Given the description of an element on the screen output the (x, y) to click on. 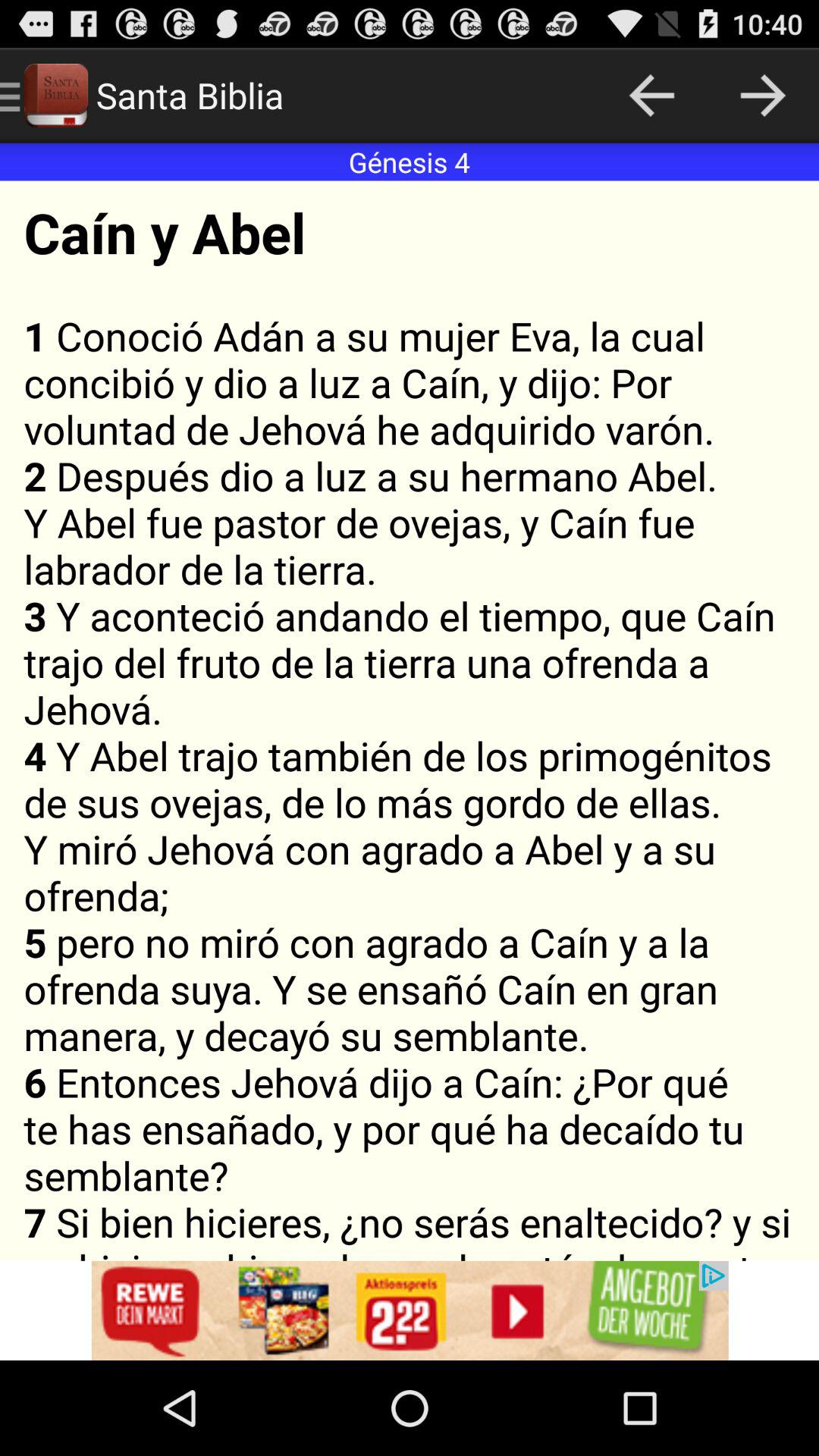
the arrow mark icon shown at the top right corner (763, 95)
